Given the description of an element on the screen output the (x, y) to click on. 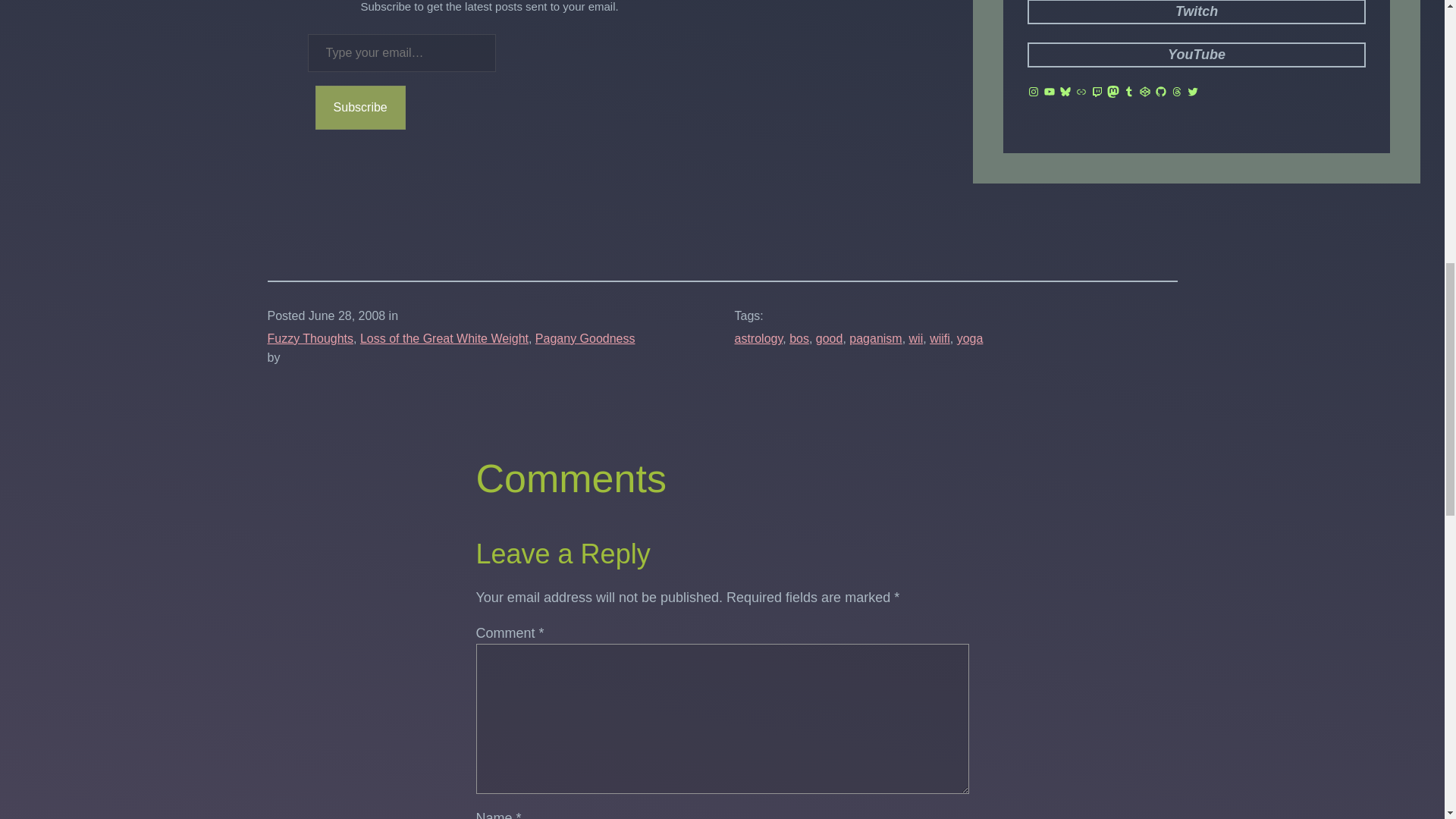
Subscribe (360, 107)
Please fill in this field. (401, 53)
Bluesky (1065, 91)
Link (1081, 91)
YouTube (1196, 54)
Twitch (1096, 91)
Twitch (1196, 12)
Mastodon (1112, 91)
YouTube (1049, 91)
Instagram (1033, 91)
